Given the description of an element on the screen output the (x, y) to click on. 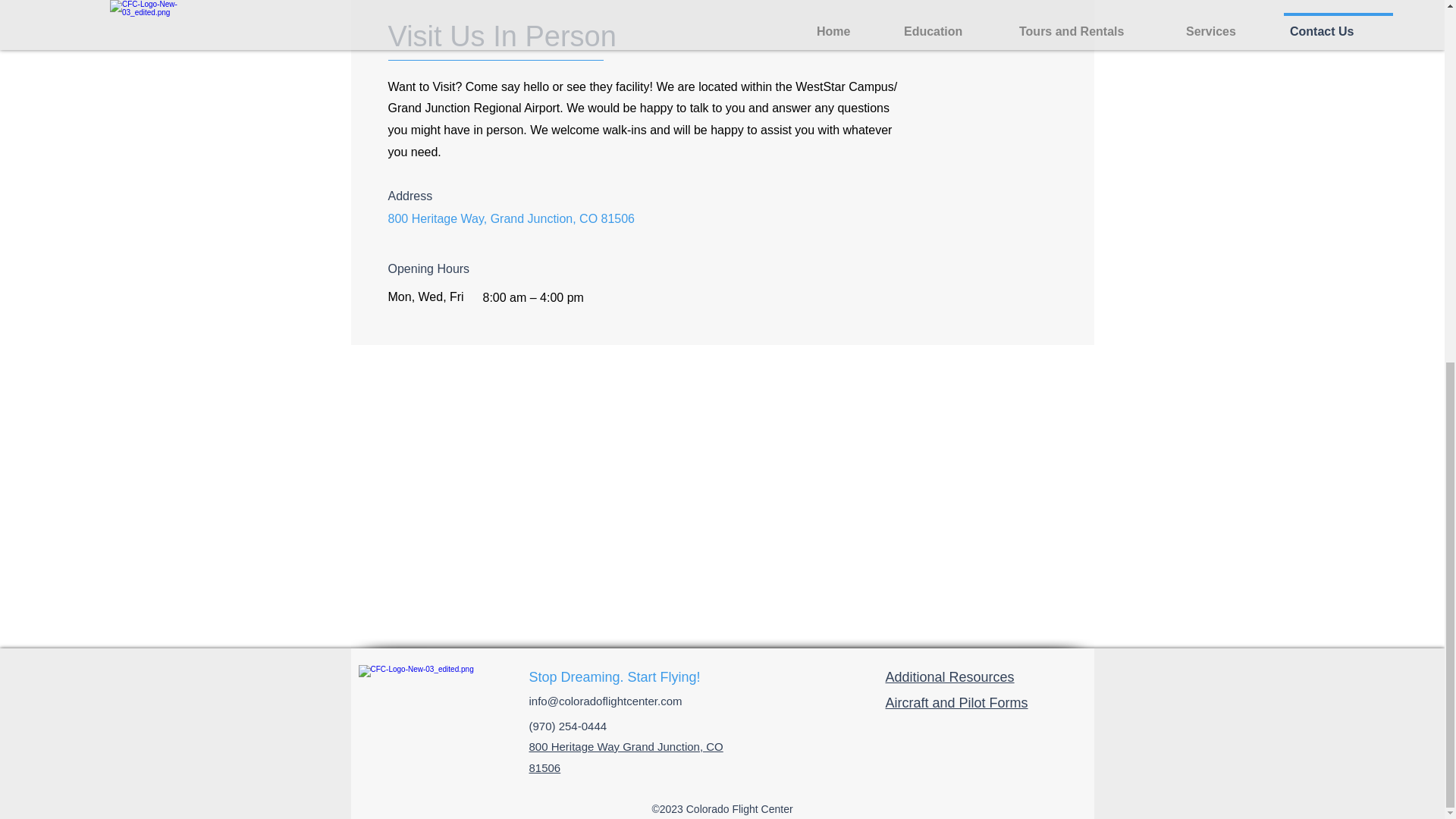
Additional Resources (949, 676)
Aircraft and Pilot Forms (956, 702)
800 Heritage Way Grand Junction, CO 81506 (626, 757)
Stop Dreaming. Start Flying! (614, 676)
Colorado Flight School.png (433, 703)
